Given the description of an element on the screen output the (x, y) to click on. 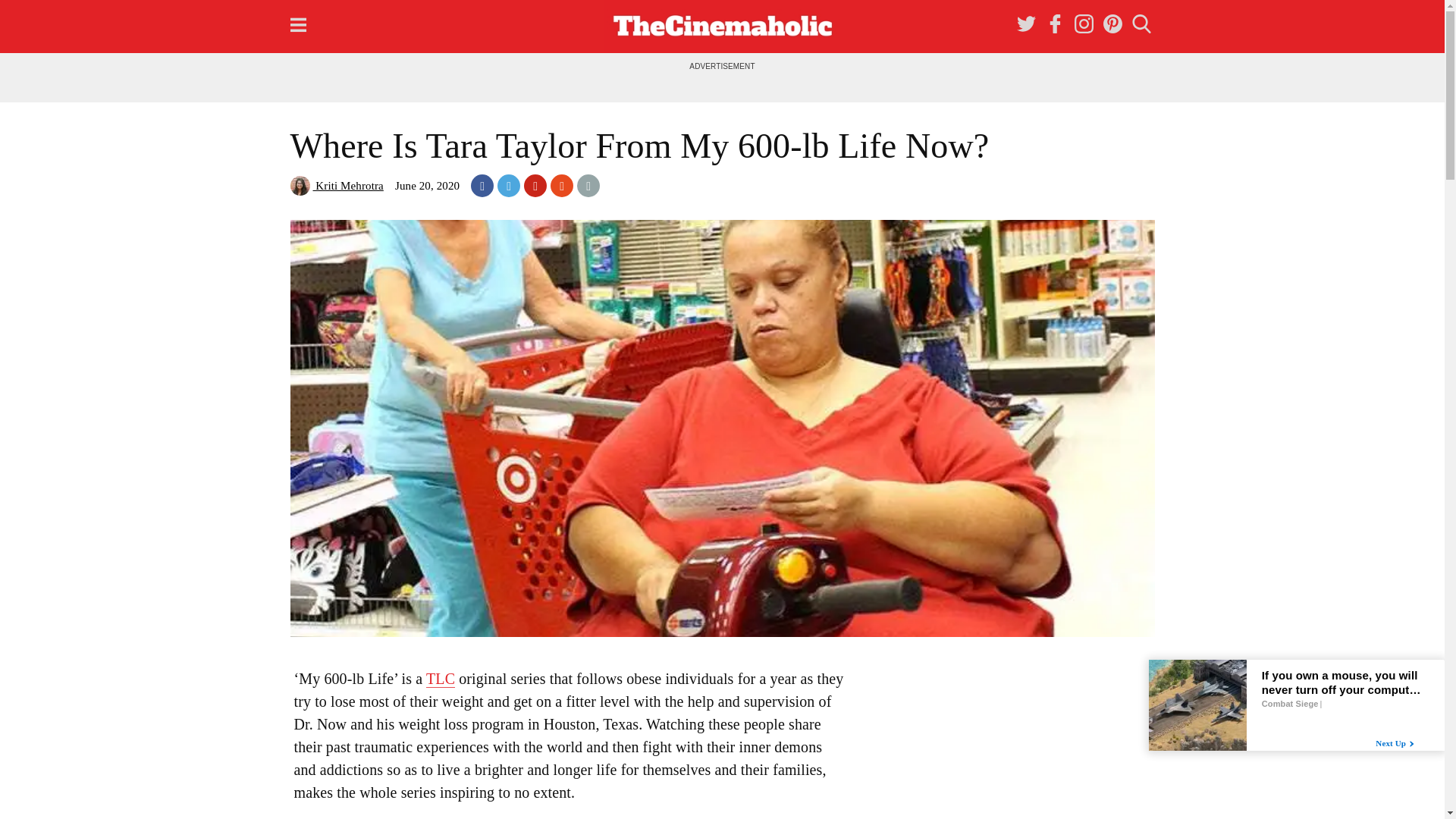
Kriti Mehrotra (335, 185)
TLC (440, 678)
